Given the description of an element on the screen output the (x, y) to click on. 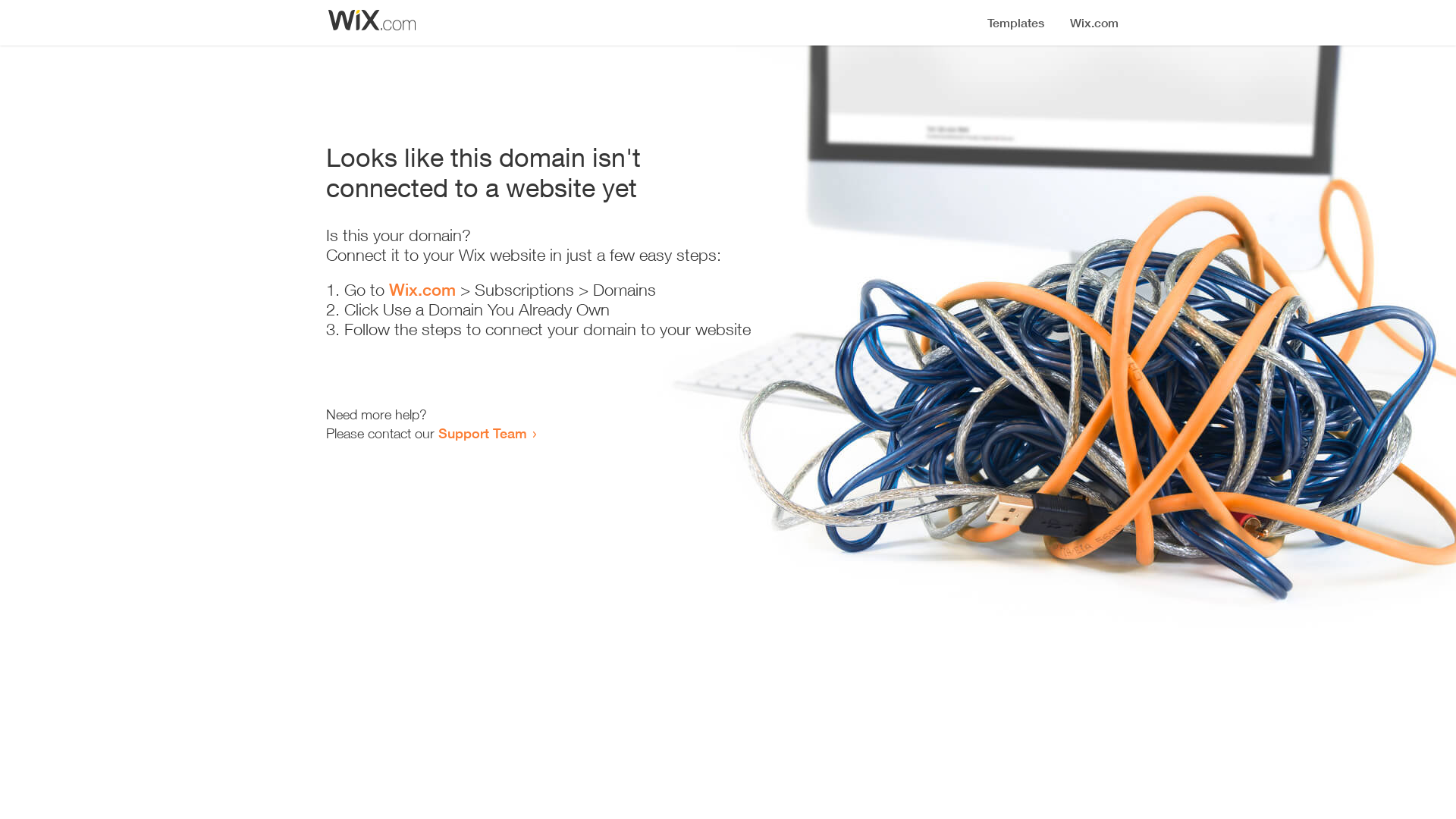
Wix.com Element type: text (422, 289)
Support Team Element type: text (482, 432)
